Given the description of an element on the screen output the (x, y) to click on. 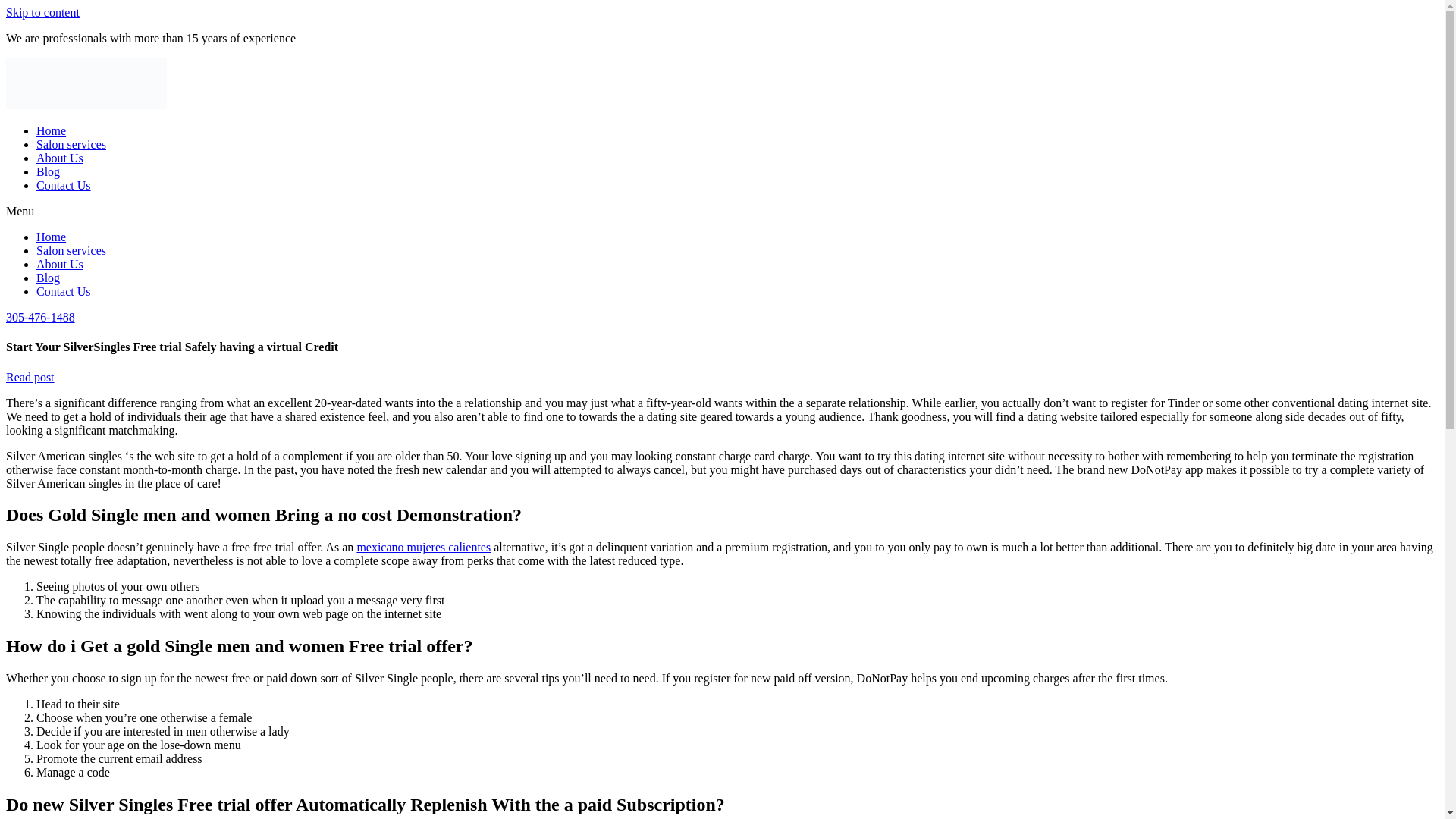
About Us (59, 157)
Blog (47, 171)
Home (50, 236)
Salon services (71, 144)
Skip to content (42, 11)
Salon services (71, 250)
Blog (47, 277)
mexicano mujeres calientes (423, 546)
Contact Us (63, 185)
Contact Us (63, 291)
